Given the description of an element on the screen output the (x, y) to click on. 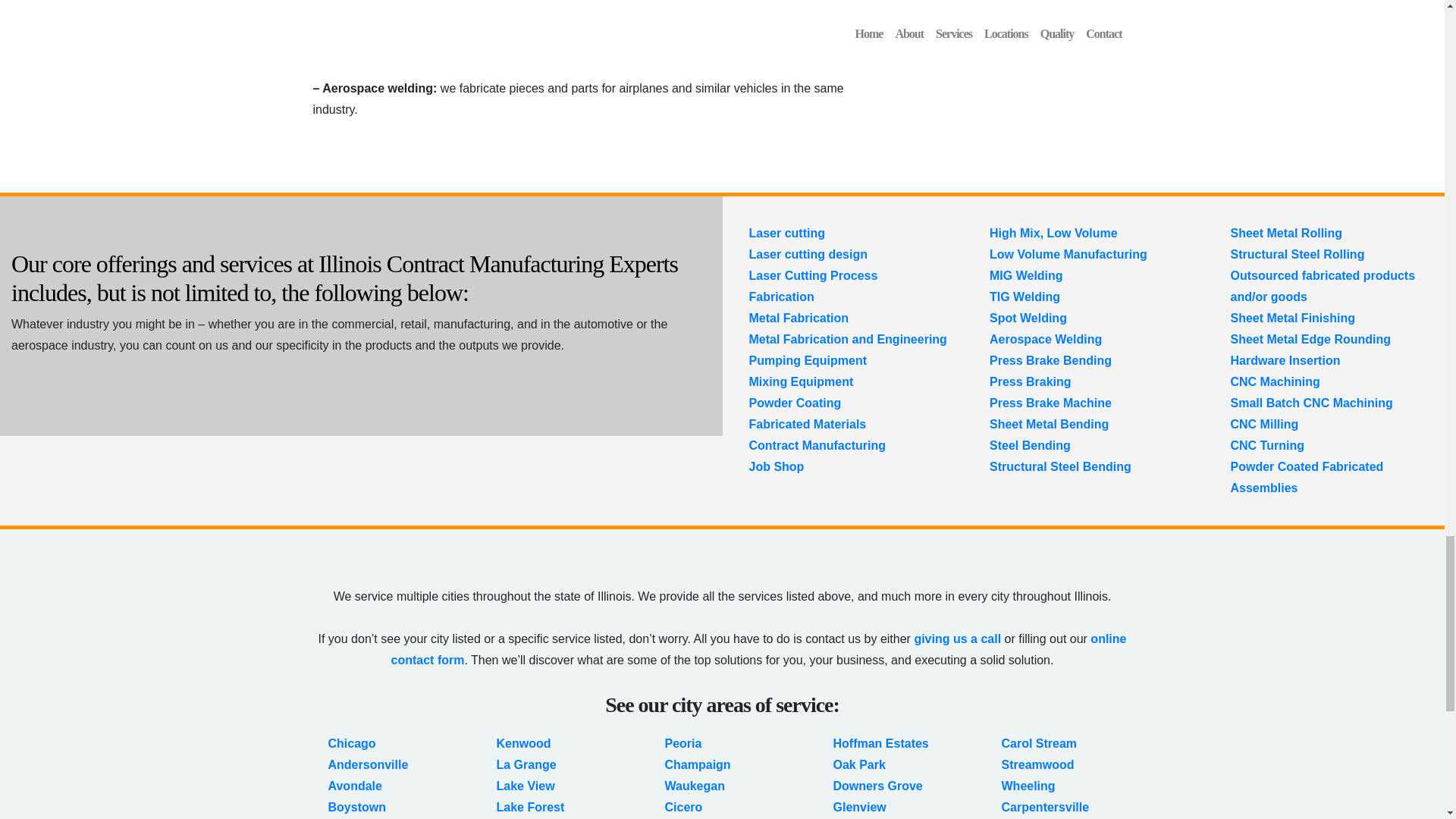
Laser cutting design (808, 254)
Steel Bending (1030, 445)
Mixing Equipment (801, 381)
Pumping Equipment (808, 359)
Structural Steel Rolling (1297, 254)
Sheet Metal Bending (1049, 423)
Press Brake Machine (1051, 402)
Structural Steel Bending (1060, 466)
Sheet Metal Edge Rounding (1310, 338)
Job Shop (777, 466)
